Given the description of an element on the screen output the (x, y) to click on. 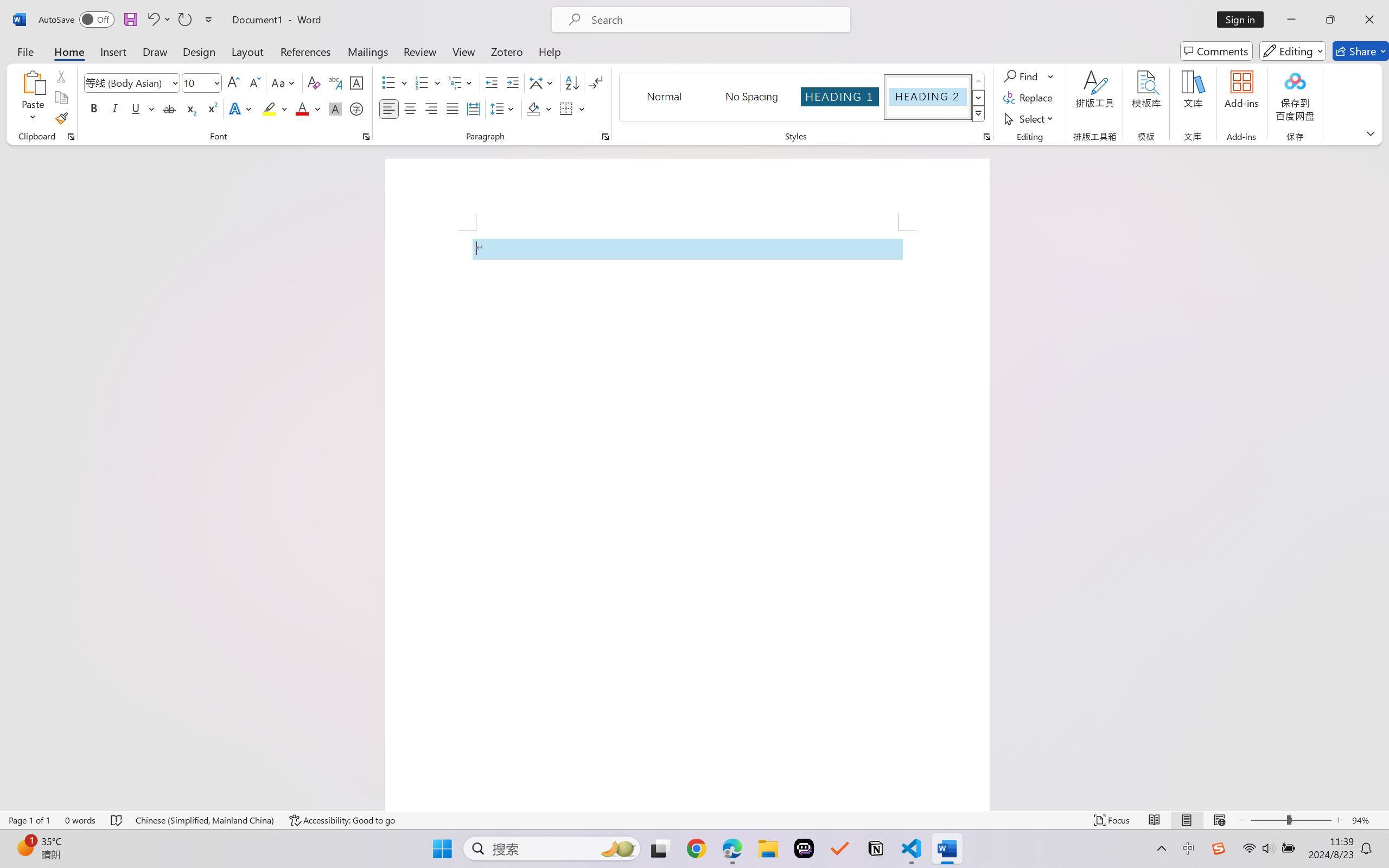
Editing (1292, 50)
